Given the description of an element on the screen output the (x, y) to click on. 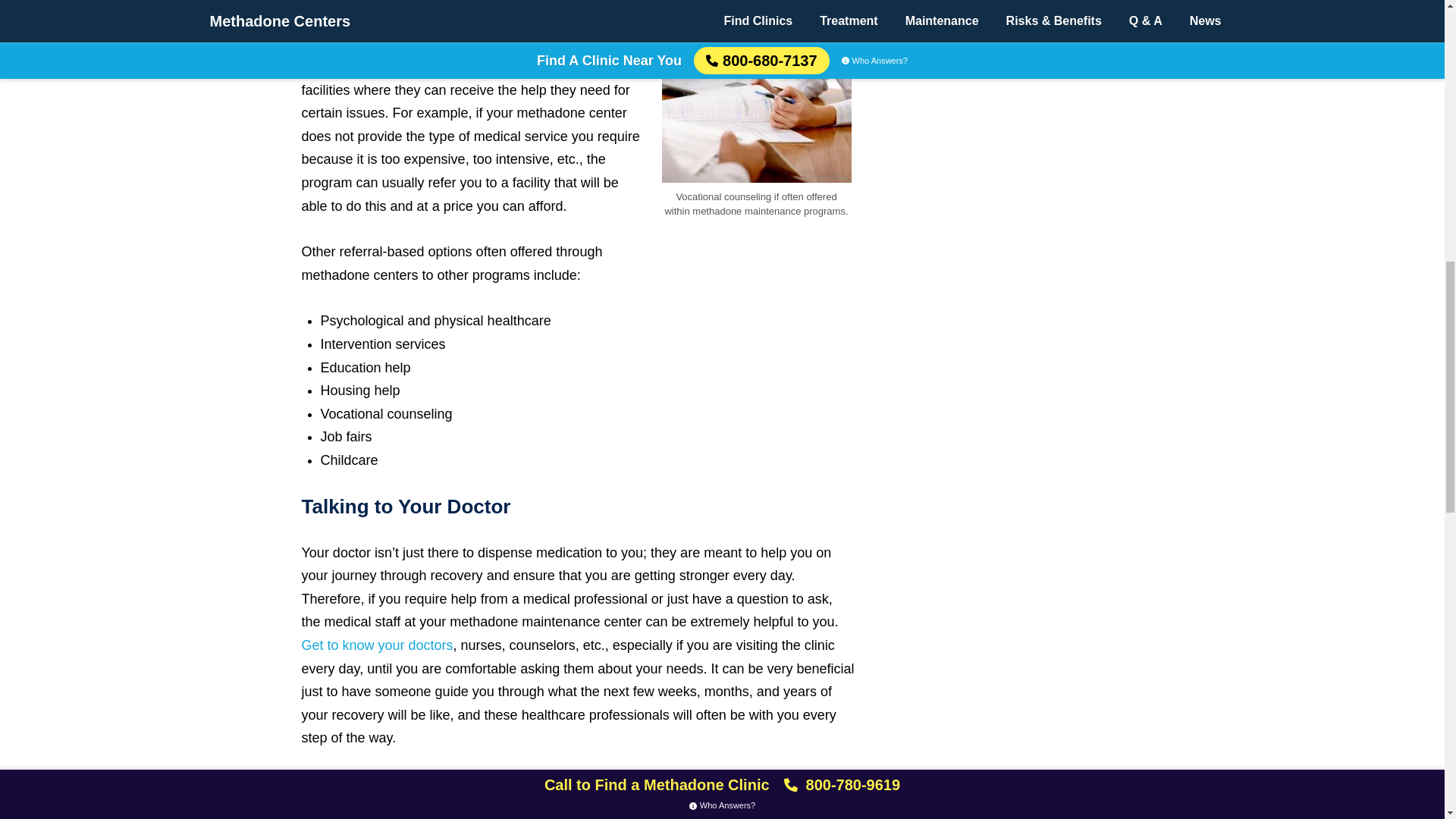
Get to know your doctors (376, 645)
